Given the description of an element on the screen output the (x, y) to click on. 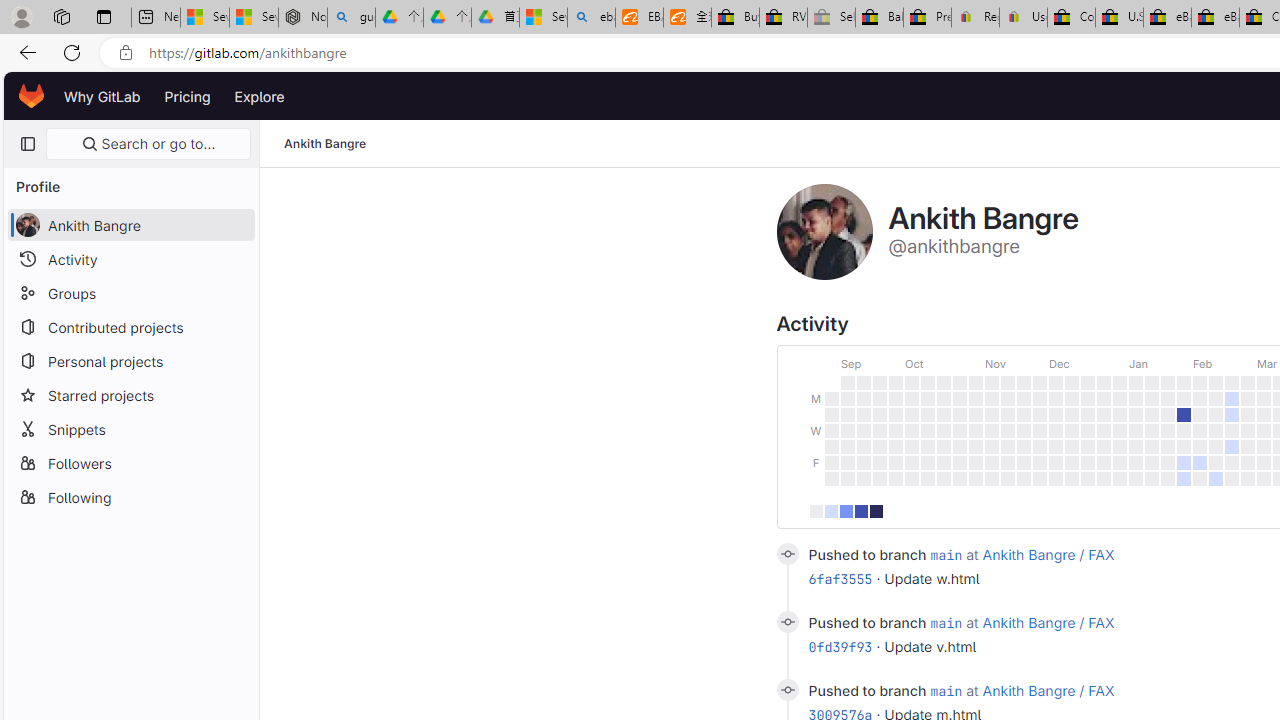
Press Room - eBay Inc. (927, 17)
U.S. State Privacy Disclosures - eBay Inc. (1119, 17)
30+ contributions (876, 510)
User profile picture (823, 232)
